Given the description of an element on the screen output the (x, y) to click on. 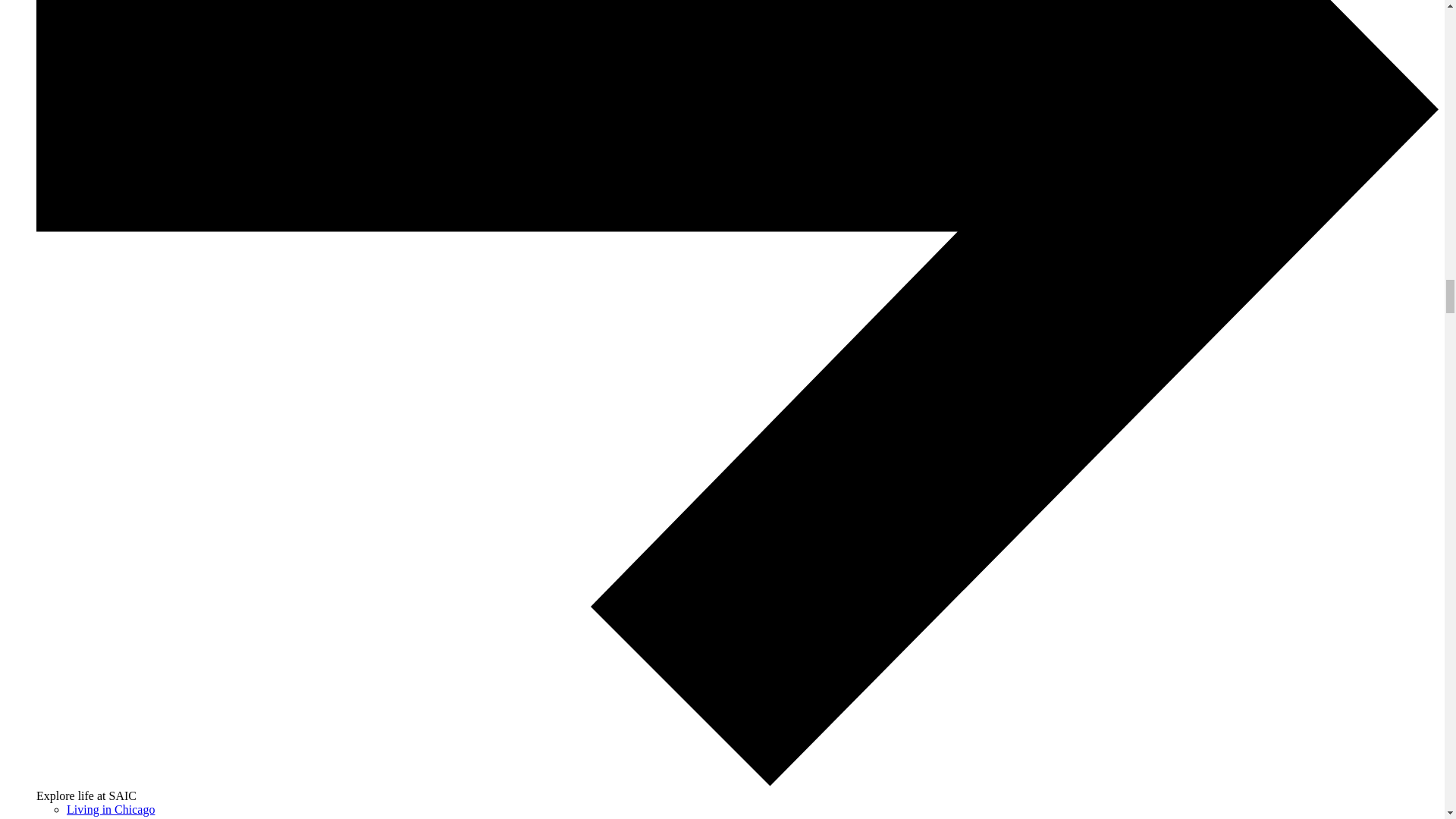
Living in Chicago (110, 809)
Our Community (106, 817)
